Given the description of an element on the screen output the (x, y) to click on. 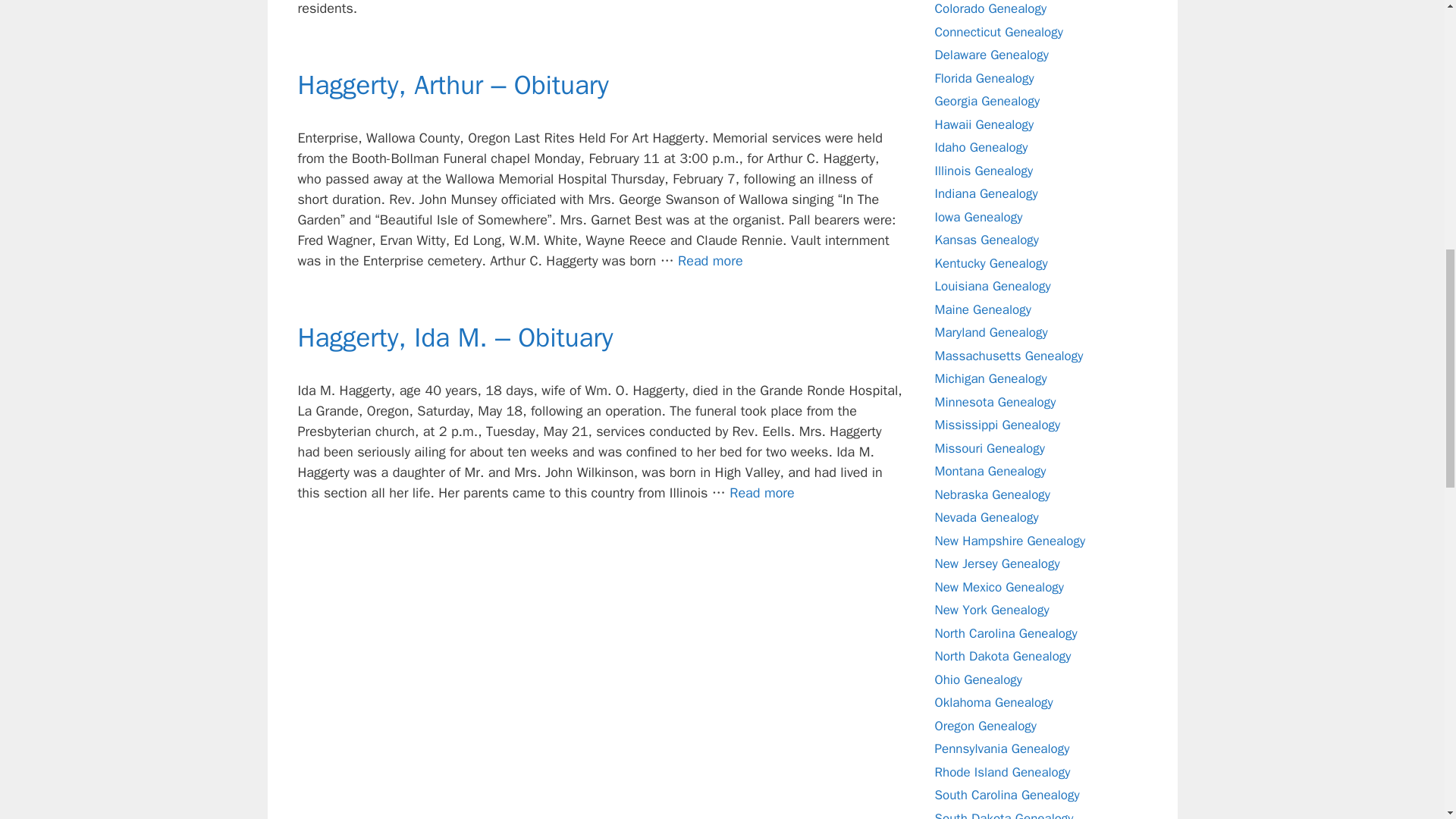
Read more (710, 260)
Hawaii Genealogy (983, 124)
Florida Genealogy (983, 78)
Illinois Genealogy (983, 170)
Read more (761, 492)
Maryland Genealogy (990, 332)
Kansas Genealogy (986, 239)
Maine Genealogy (982, 309)
Delaware Genealogy (991, 54)
Louisiana Genealogy (991, 286)
